Given the description of an element on the screen output the (x, y) to click on. 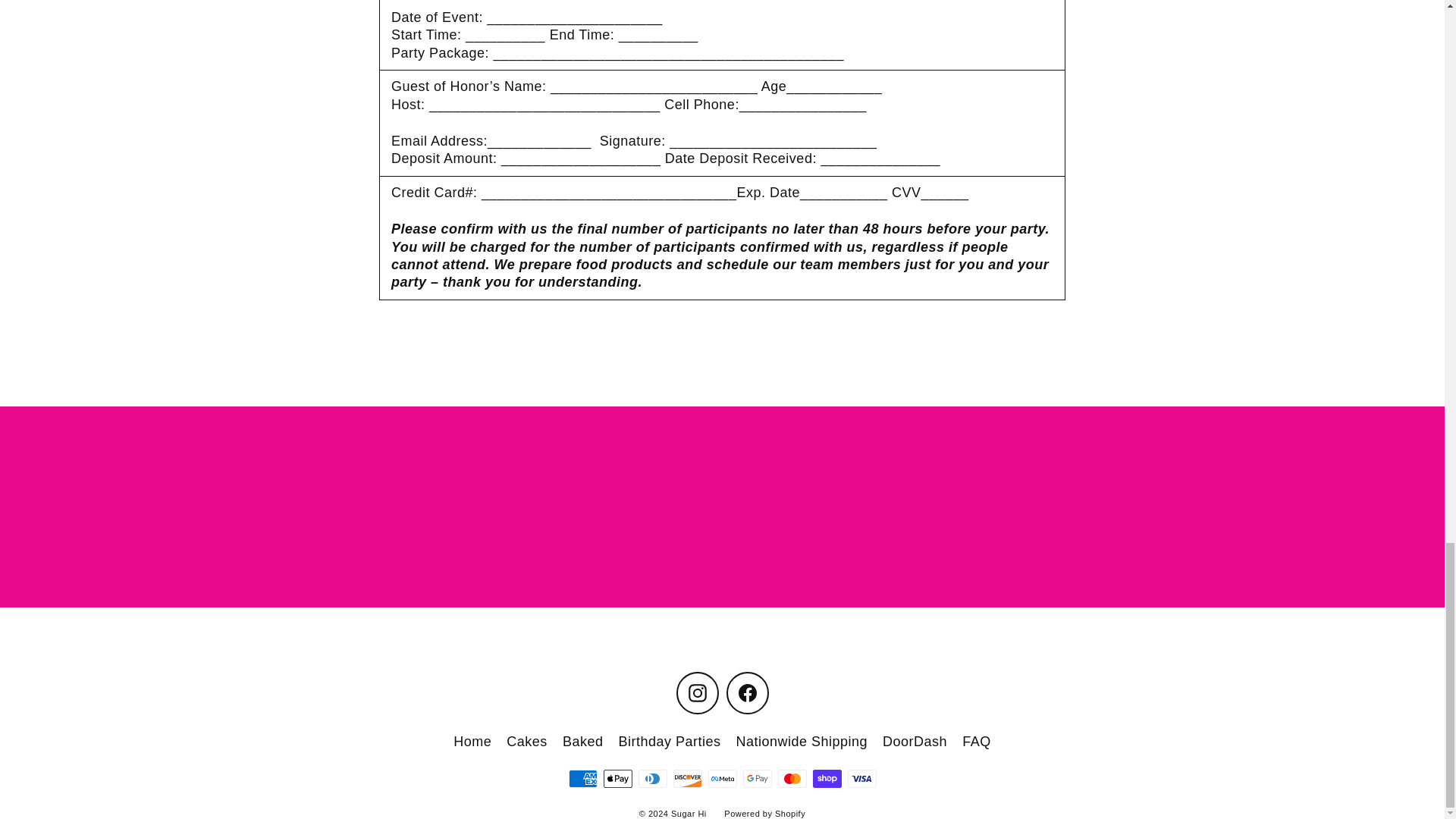
Shop Pay (826, 778)
Apple Pay (617, 778)
Sugar Hi on Instagram (698, 692)
Sugar Hi on Facebook (747, 692)
Mastercard (791, 778)
Diners Club (652, 778)
Google Pay (756, 778)
Discover (686, 778)
American Express (582, 778)
Meta Pay (721, 778)
Visa (861, 778)
